Given the description of an element on the screen output the (x, y) to click on. 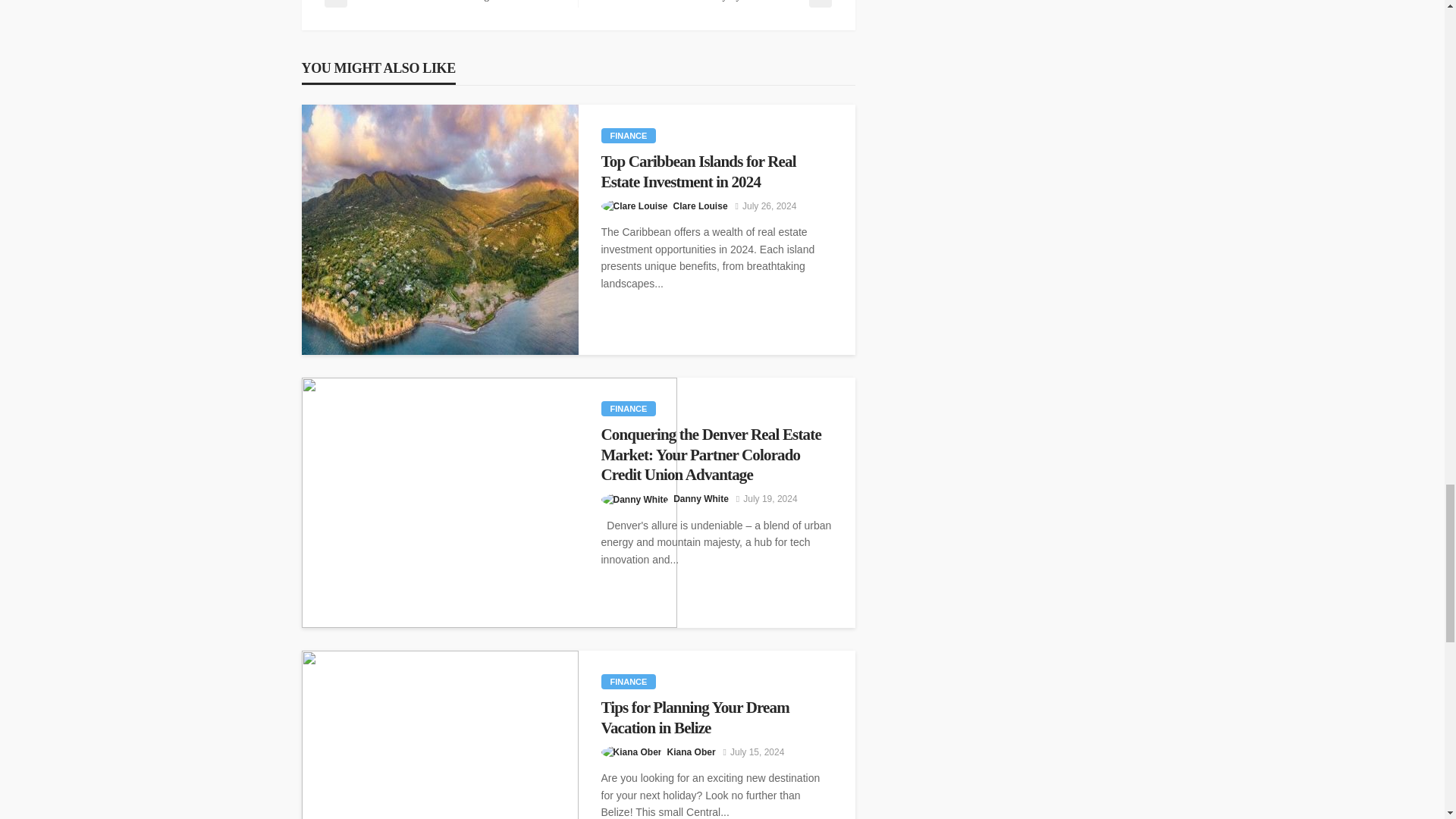
Tips for Planning Your Dream Vacation in Belize (715, 717)
The Basics Of Forex CFD Trading (443, 3)
Tips for Planning Your Dream Vacation in Belize (715, 717)
Top Caribbean Islands for Real Estate Investment in 2024 (439, 229)
Kiana Ober (691, 752)
Top Caribbean Islands for Real Estate Investment in 2024 (715, 171)
Finance (627, 681)
The Basics Of Forex CFD Trading (443, 3)
Clare Louise (700, 206)
Top Caribbean Islands for Real Estate Investment in 2024 (715, 171)
Finance (627, 408)
Best Instant Payday Loans In 2023 (711, 3)
Tips for Planning Your Dream Vacation in Belize (439, 734)
Finance (627, 135)
